Given the description of an element on the screen output the (x, y) to click on. 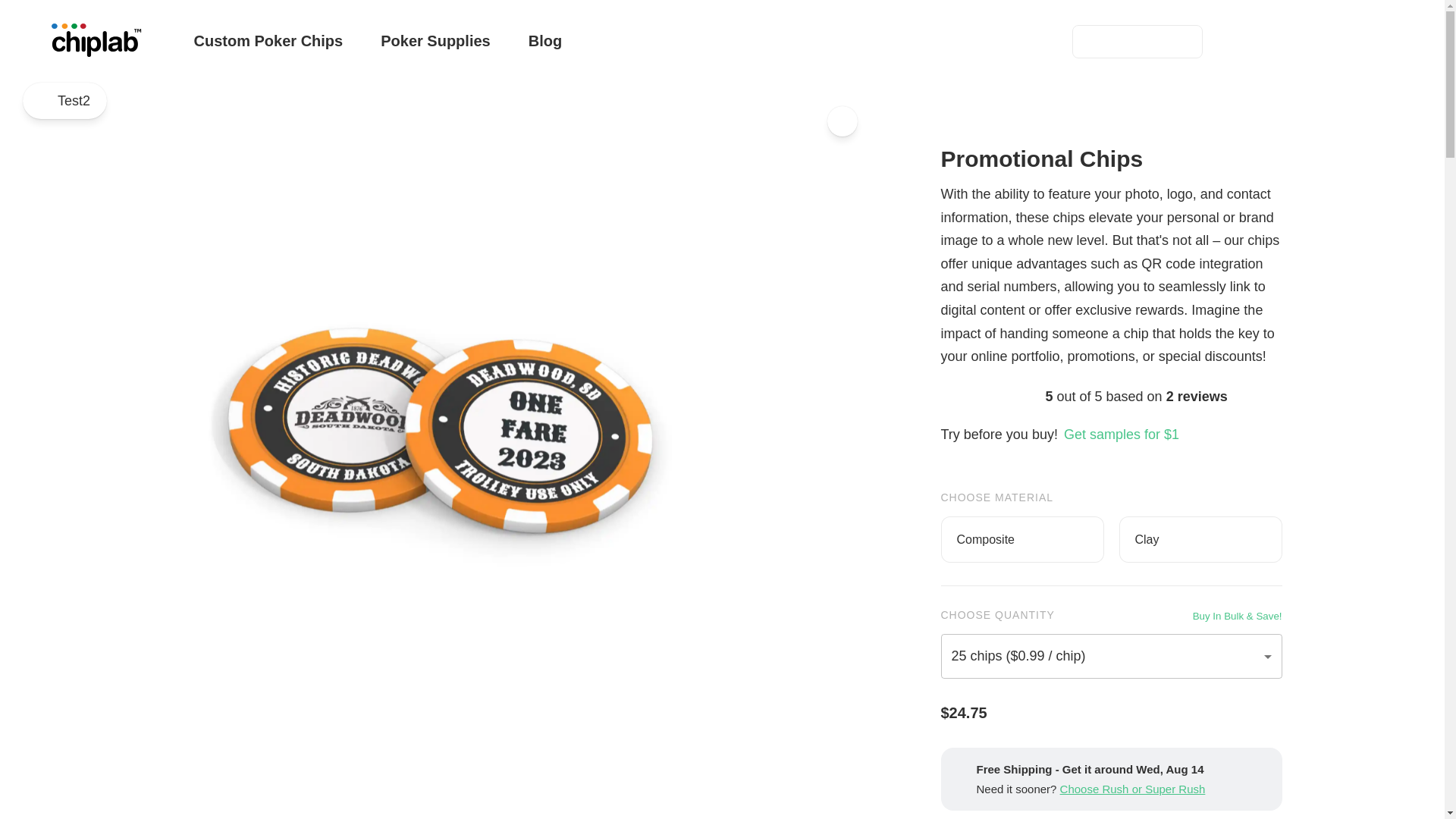
Custom Poker Chips (613, 41)
Test2 (268, 41)
Choose Rush or Super Rush (64, 100)
Clay (1132, 788)
Poker Supplies (1200, 539)
Composite (435, 41)
